Given the description of an element on the screen output the (x, y) to click on. 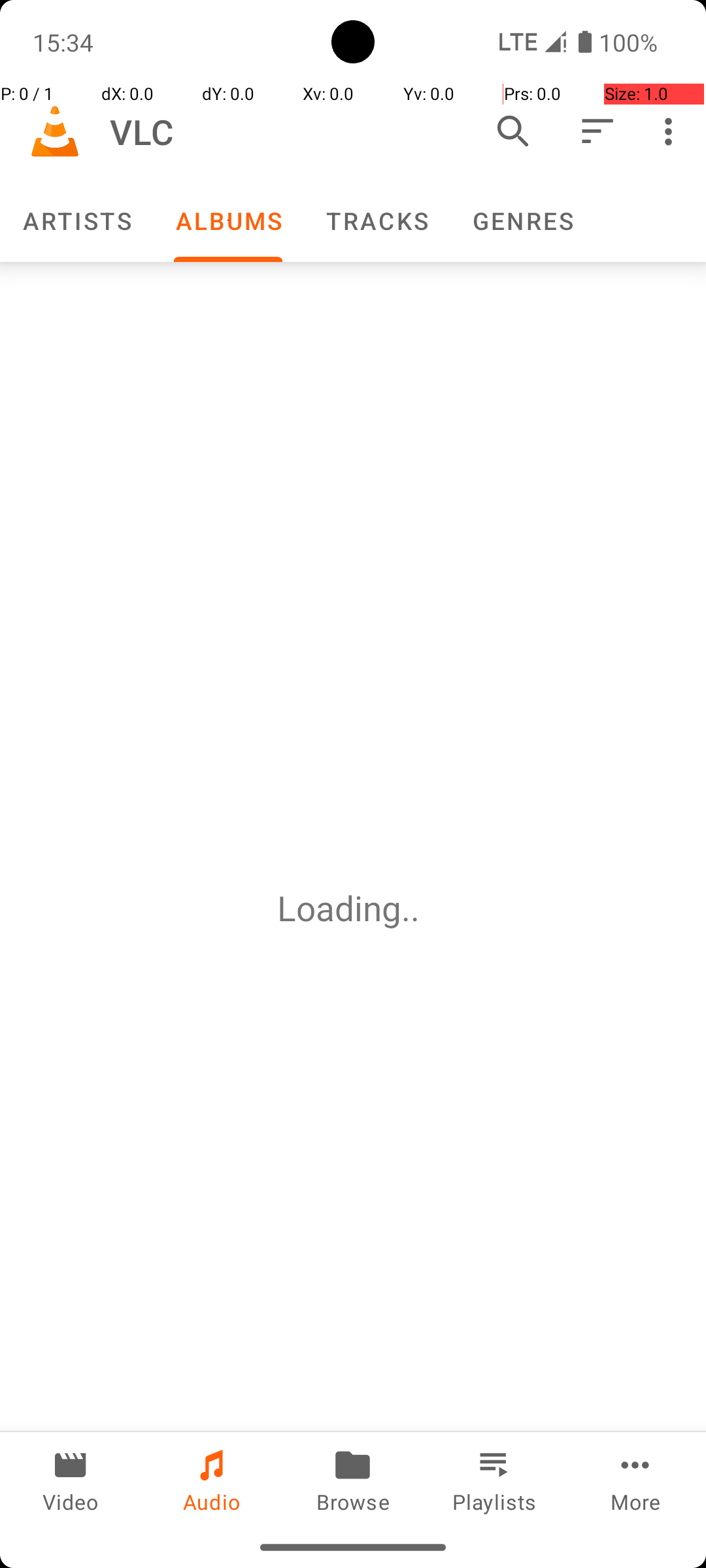
.. Element type: android.widget.TextView (414, 907)
